Given the description of an element on the screen output the (x, y) to click on. 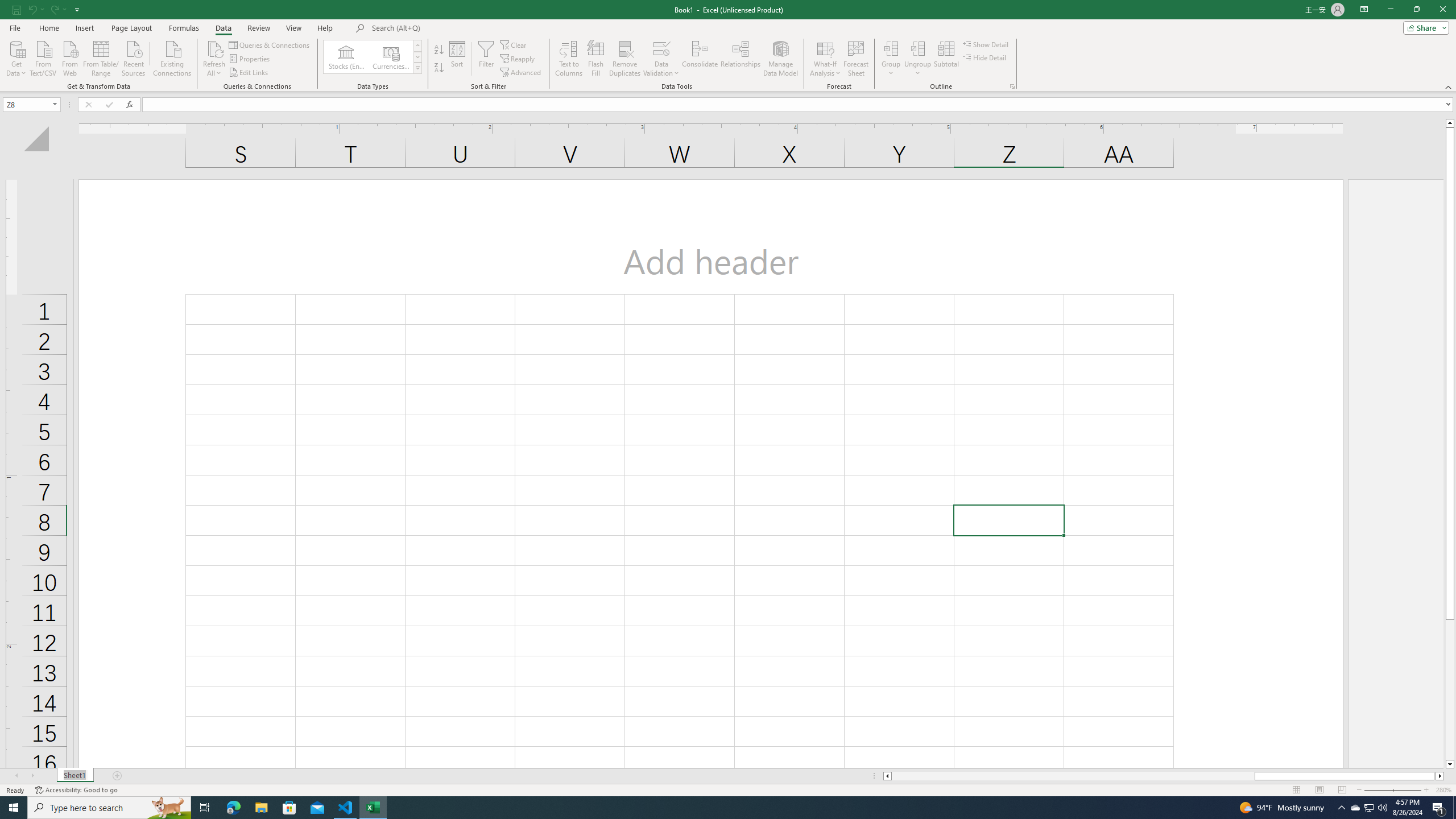
Consolidate... (700, 58)
